Given the description of an element on the screen output the (x, y) to click on. 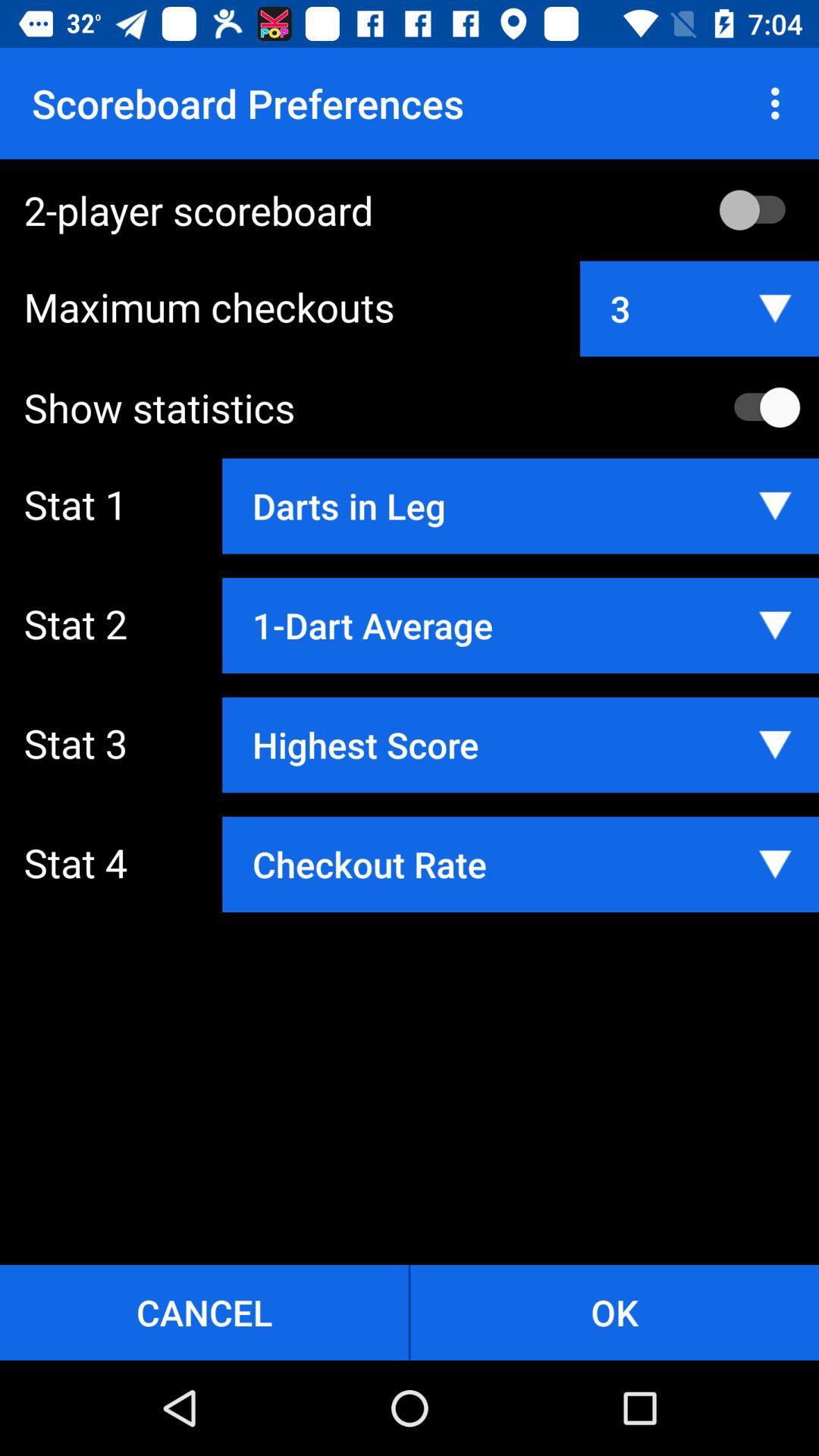
open the button next to ok (204, 1312)
